Given the description of an element on the screen output the (x, y) to click on. 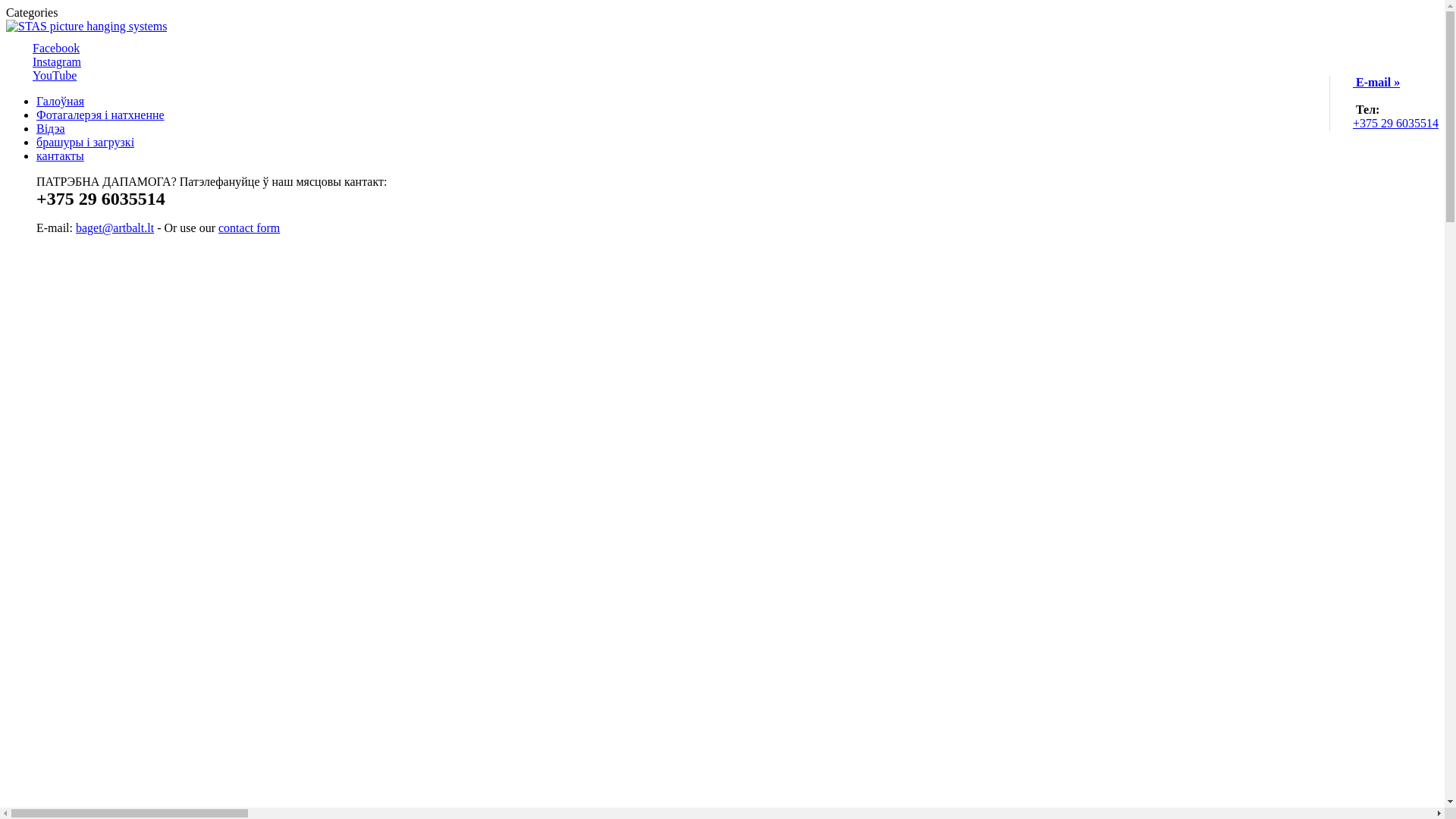
Categories Element type: text (31, 12)
+375 29 6035514 Element type: text (1395, 122)
contact form Element type: text (248, 227)
Instagram Element type: text (56, 61)
Facebook Element type: text (55, 47)
STAS picture hanging systems Element type: hover (86, 25)
baget@artbalt.lt Element type: text (114, 227)
YouTube Element type: text (54, 75)
